Given the description of an element on the screen output the (x, y) to click on. 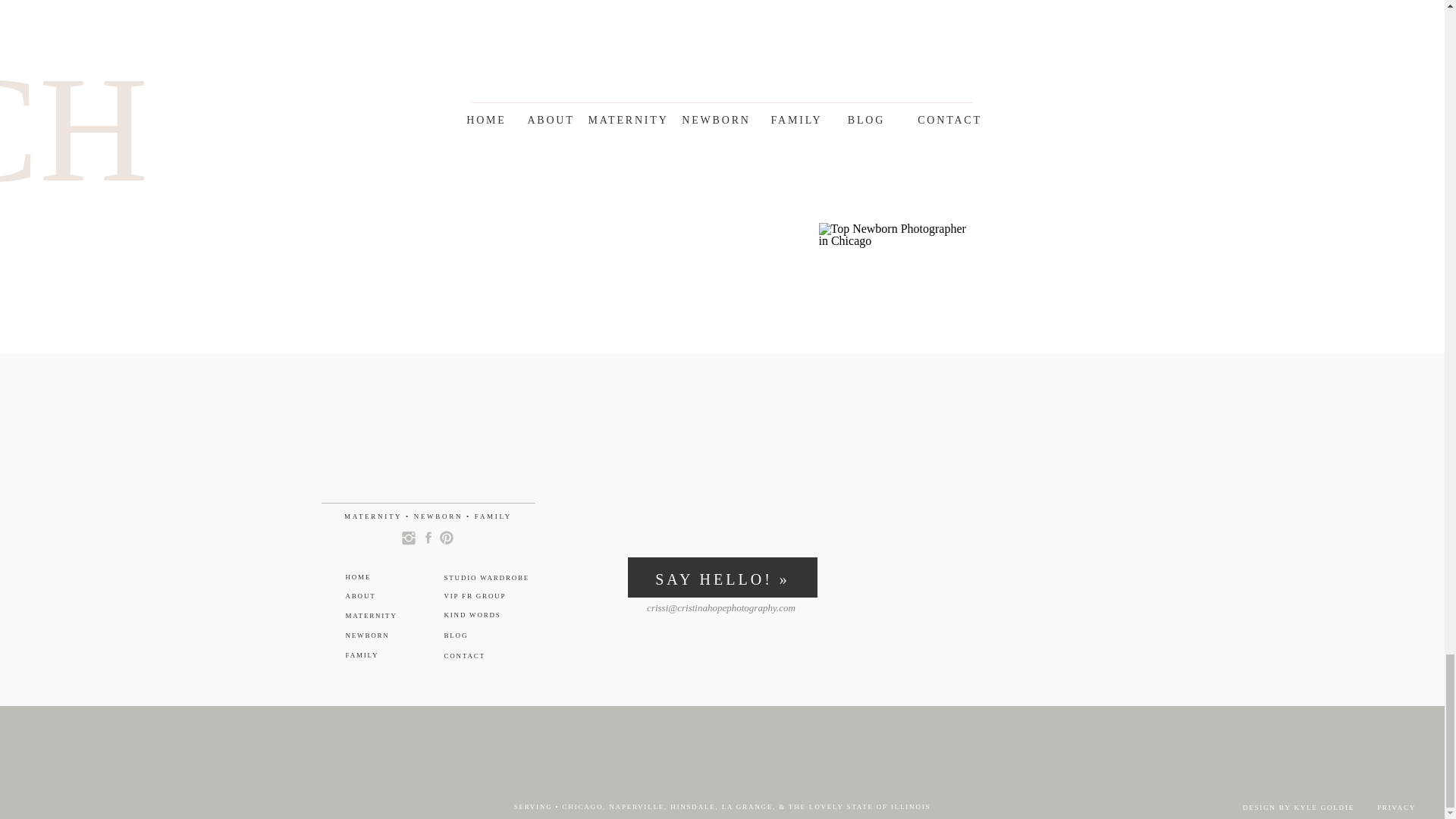
FAMILY (513, 58)
ADVICE (928, 57)
